Given the description of an element on the screen output the (x, y) to click on. 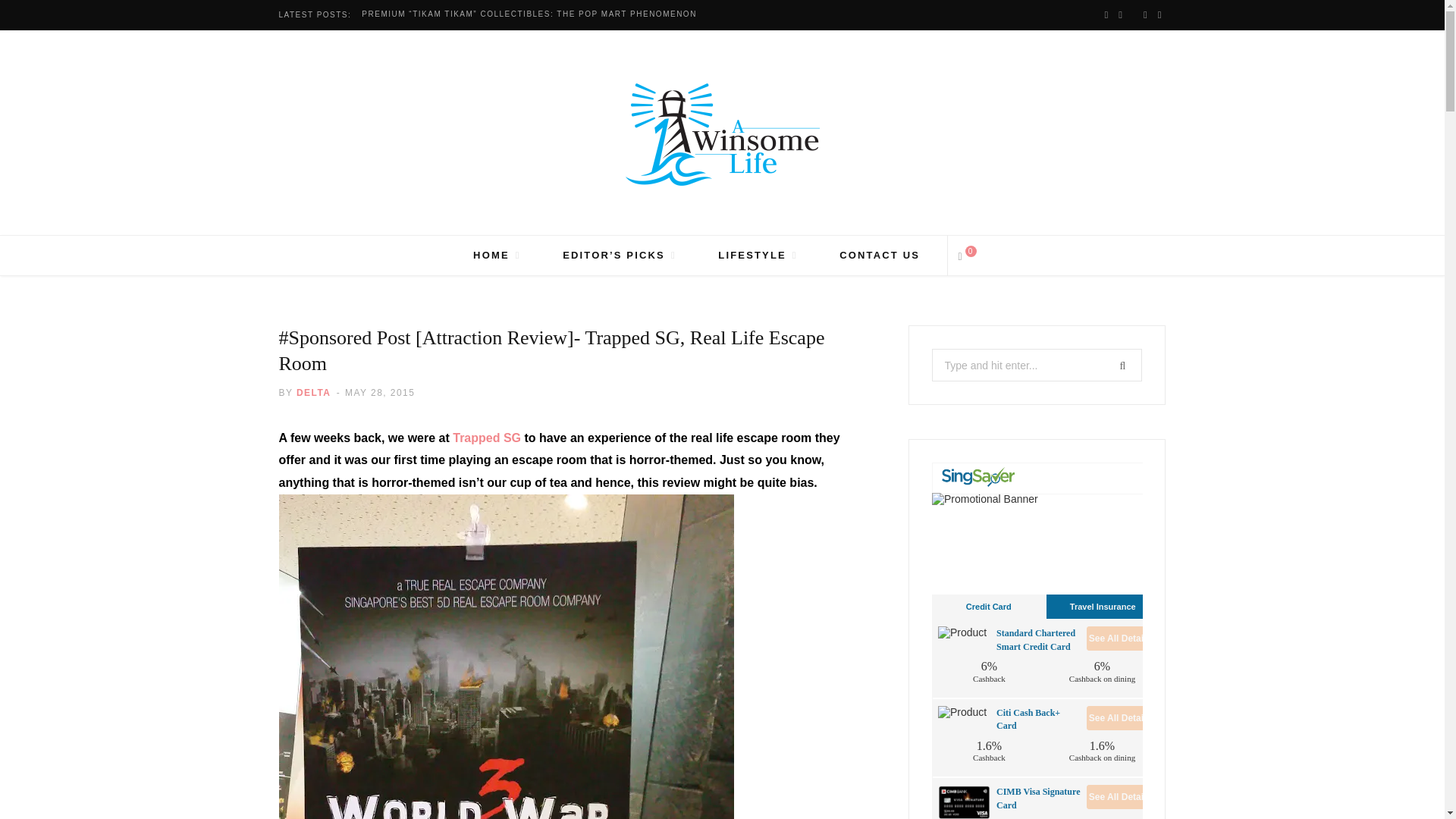
LIFESTYLE (756, 255)
HOME (497, 255)
A Winsome Life (721, 134)
